Given the description of an element on the screen output the (x, y) to click on. 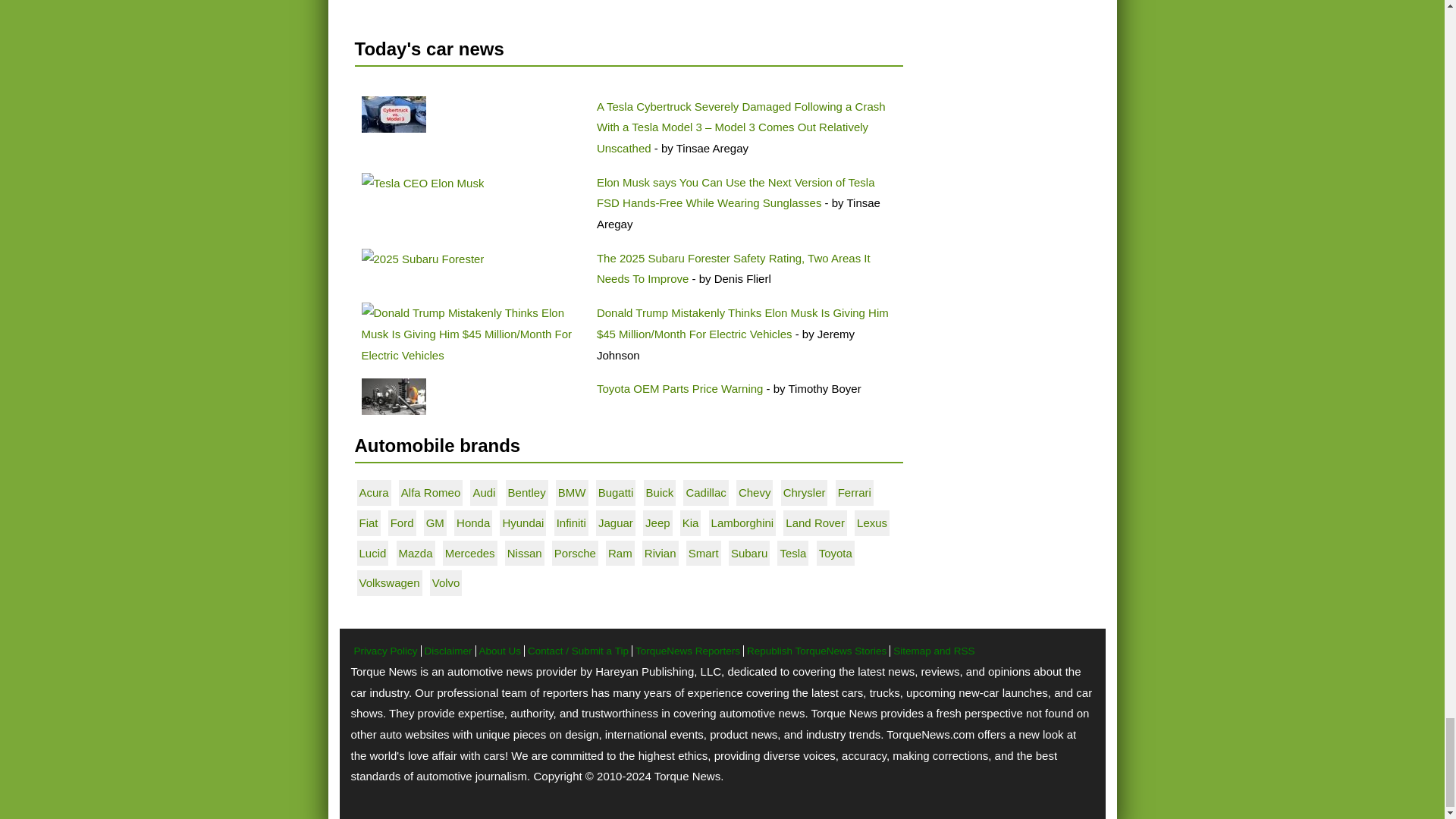
2025 Subaru Forester front view (422, 259)
Sometimes Non-OEM Parts is Your Better Parts Choice (393, 396)
